Given the description of an element on the screen output the (x, y) to click on. 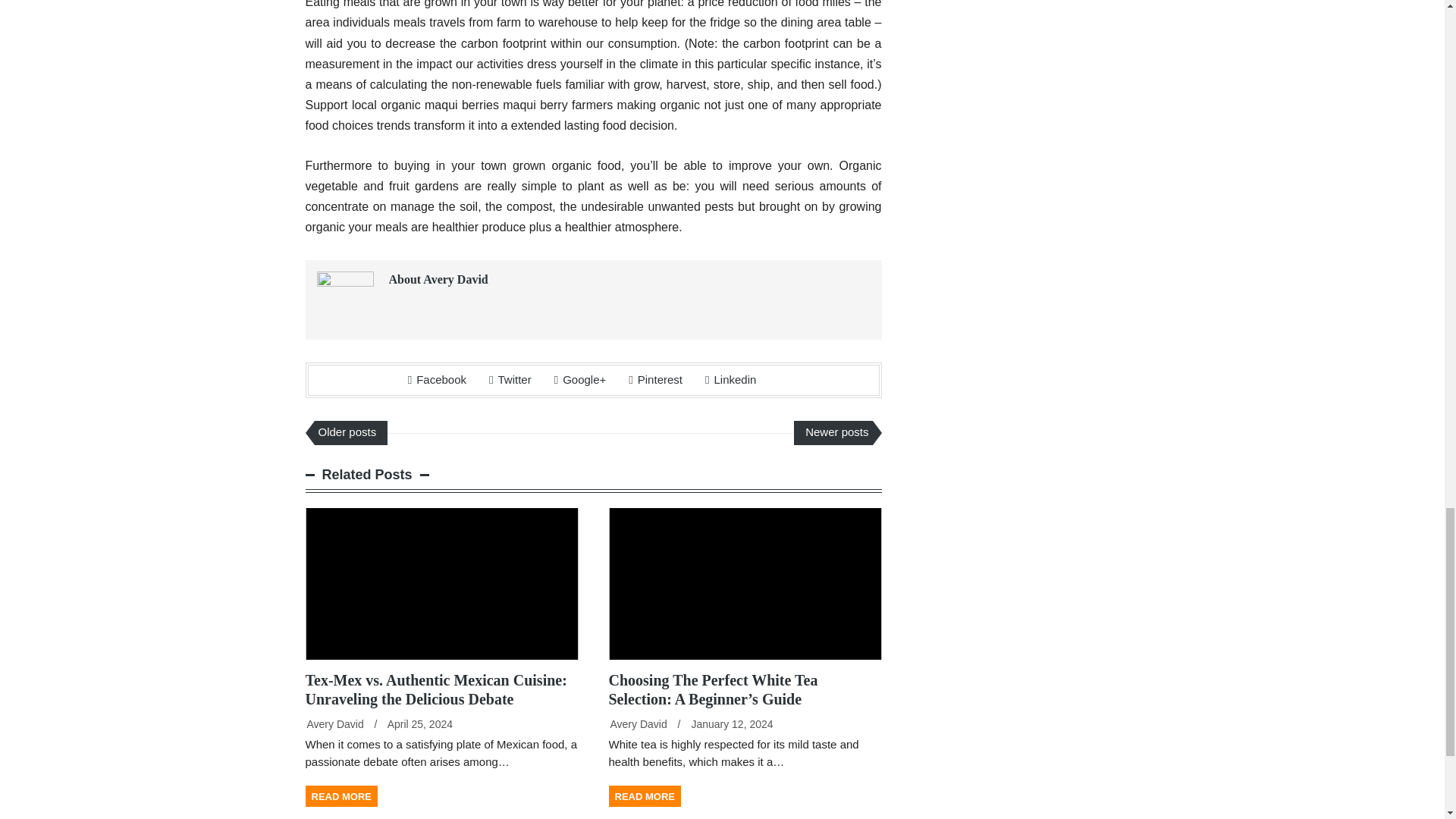
Avery David (333, 724)
Pinterest (655, 379)
Facebook (436, 379)
Avery David (638, 724)
Twitter (510, 379)
Older posts (350, 432)
Posts by Avery David (333, 724)
Linkedin (729, 379)
READ MORE (643, 795)
READ MORE (340, 795)
